Given the description of an element on the screen output the (x, y) to click on. 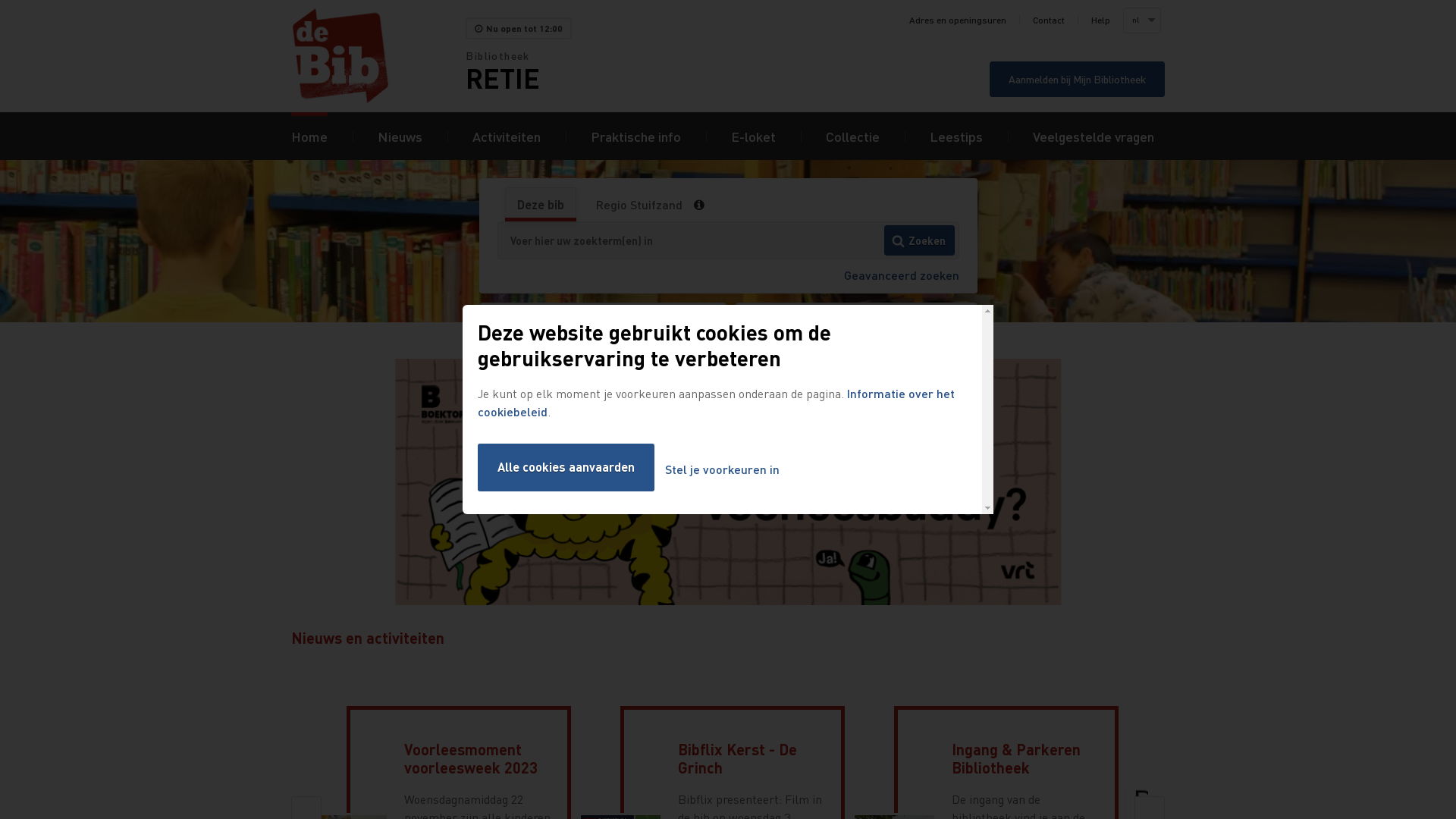
banner_website_voorleesweek.png Element type: hover (727, 483)
Geavanceerd zoeken Element type: text (900, 274)
Home Element type: text (309, 136)
Leestips Element type: text (955, 136)
Nu open tot 12:00 Element type: text (518, 28)
Nieuws Element type: text (399, 136)
Collectie Element type: text (852, 136)
Alle cookies aanvaarden Element type: text (565, 466)
Regio Stuifzand Element type: text (638, 204)
nl Element type: text (1140, 20)
Veelgestelde vragen Element type: text (1093, 136)
Help Element type: text (1100, 20)
Openingsuren opzoeken Element type: text (856, 321)
Contact Element type: text (1048, 20)
Deze bib Element type: text (539, 204)
Stel je voorkeuren in Element type: text (722, 469)
E-loket Element type: text (753, 136)
Adres en openingsuren Element type: text (957, 20)
Meer informatie Element type: hover (704, 204)
Overslaan en naar zoeken gaan Element type: text (0, 0)
Zoeken Element type: text (919, 240)
Praktische info Element type: text (635, 136)
Informatie over het cookiebeleid Element type: text (715, 402)
banner_website_voorleesweek.png Element type: hover (727, 481)
Aanmelden bij Mijn Bibliotheek Element type: text (1076, 79)
Uitleentermijn verlengen Element type: text (603, 321)
Home Element type: hover (378, 55)
Activiteiten Element type: text (506, 136)
